Given the description of an element on the screen output the (x, y) to click on. 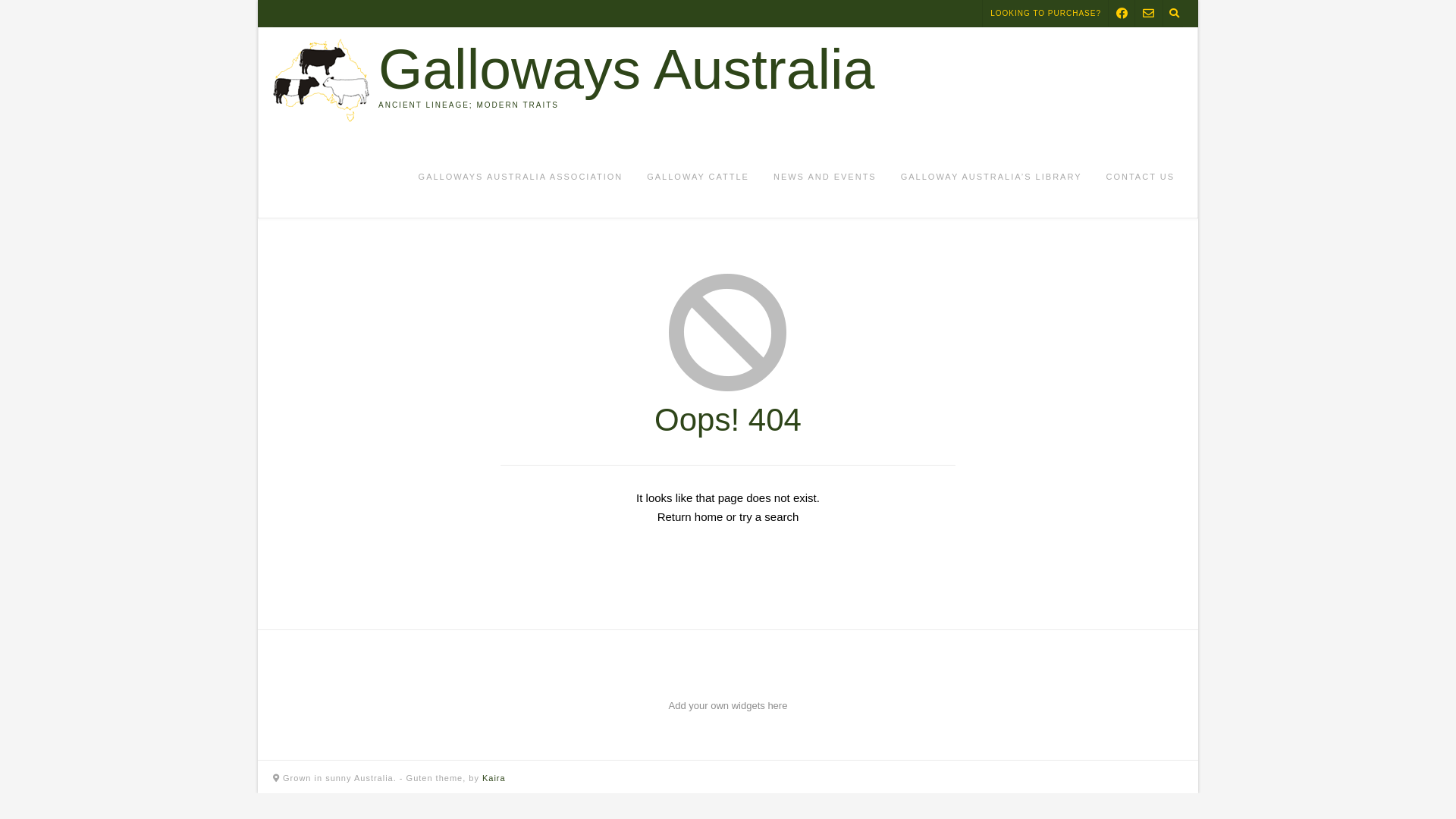
NEWS AND EVENTS Element type: text (824, 177)
LOOKING TO PURCHASE? Element type: text (1045, 13)
Send Us an Email Element type: hover (1148, 13)
GALLOWAY CATTLE Element type: text (697, 177)
Kaira Element type: text (493, 777)
Find Us on Facebook Element type: hover (1121, 13)
GALLOWAYS AUSTRALIA ASSOCIATION Element type: text (520, 177)
Galloways Australia Element type: text (626, 68)
CONTACT US Element type: text (1139, 177)
